Given the description of an element on the screen output the (x, y) to click on. 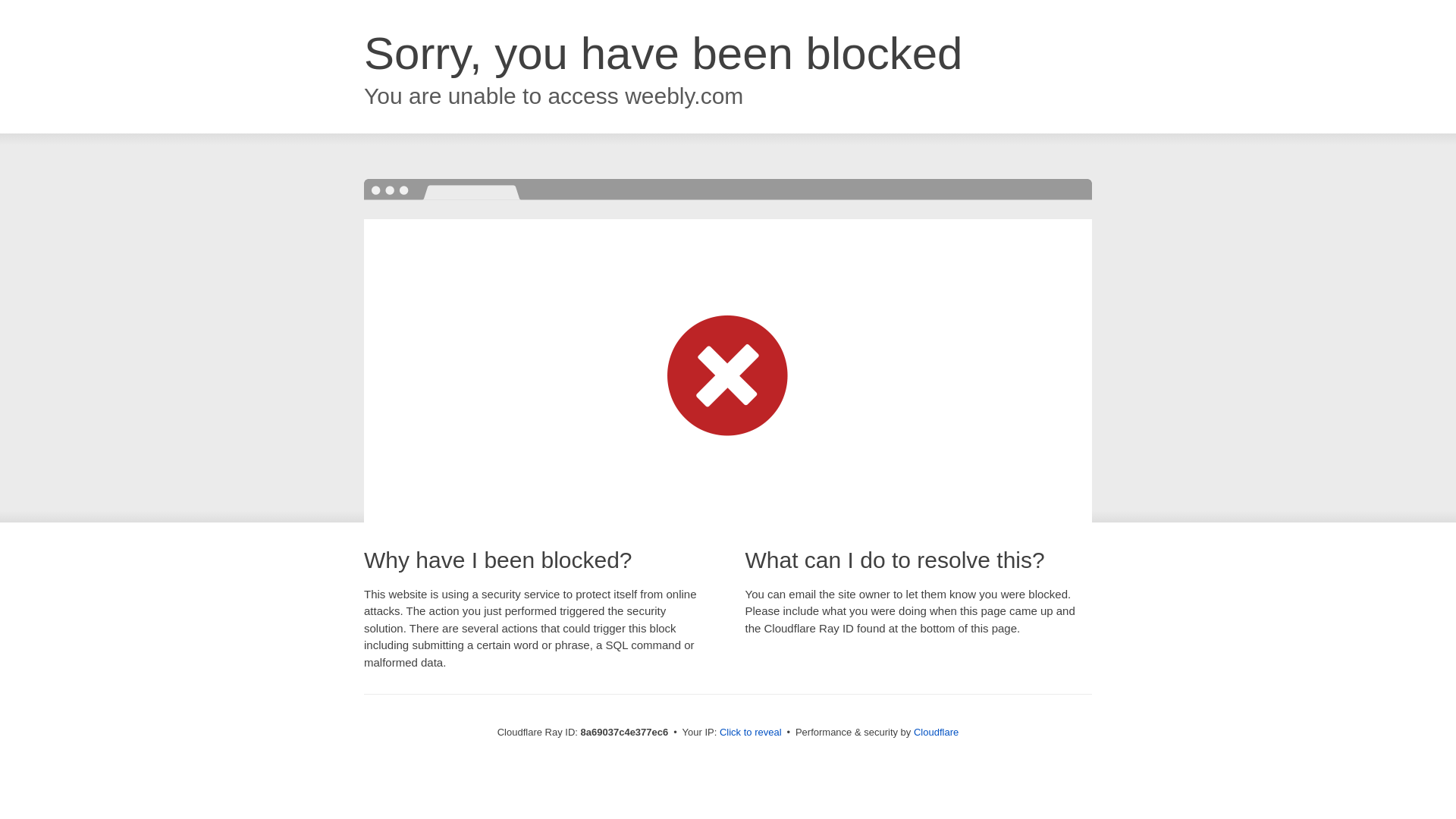
Cloudflare (936, 731)
Click to reveal (750, 732)
